Given the description of an element on the screen output the (x, y) to click on. 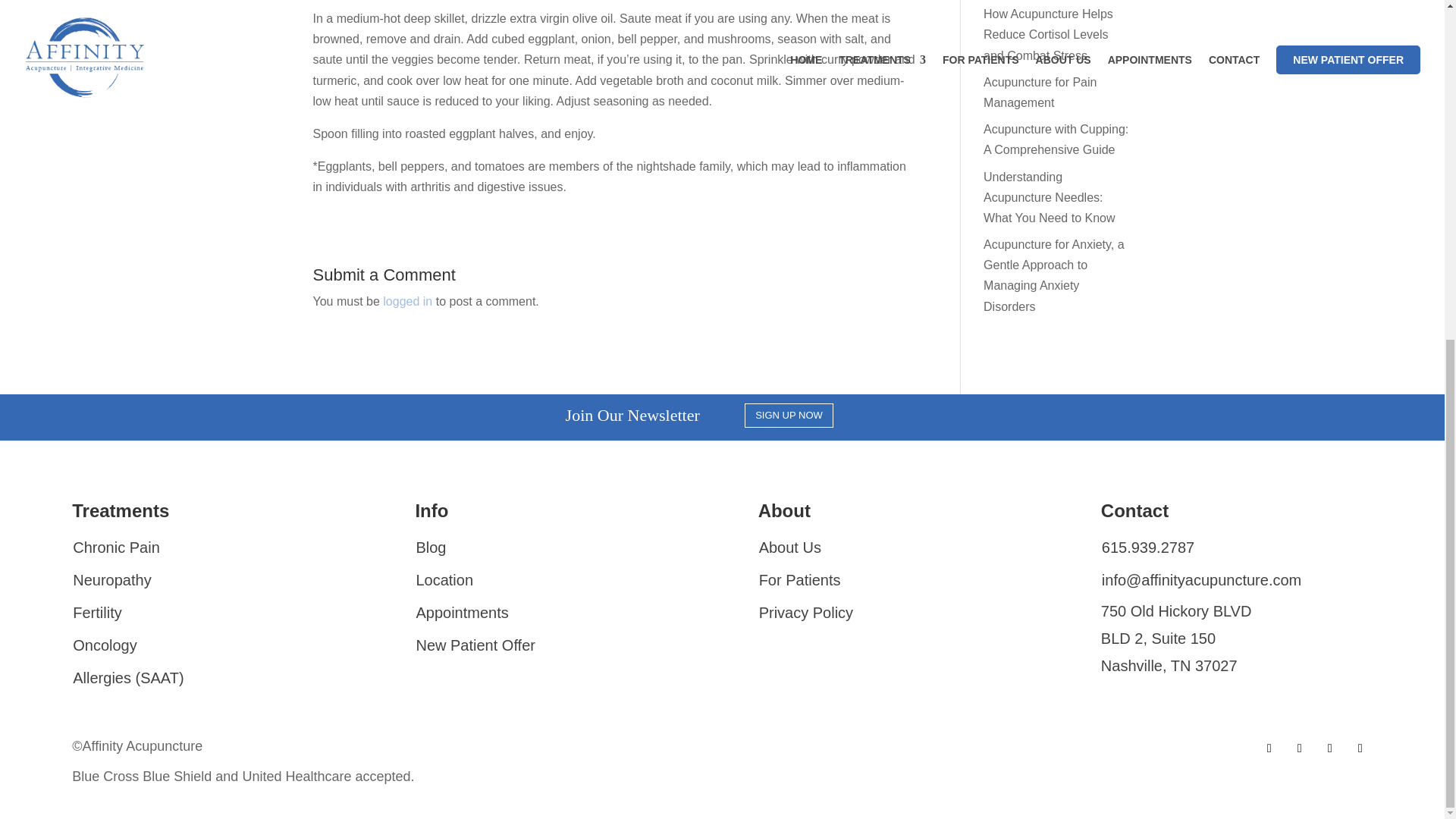
Chronic Pain (115, 548)
logged in (407, 300)
Acupuncture with Cupping: A Comprehensive Guide (1056, 139)
Follow on Instagram (1329, 748)
SIGN UP NOW (788, 415)
Understanding Acupuncture Needles: What You Need to Know (1049, 197)
Follow on Facebook (1269, 748)
Neuropathy (111, 581)
